Given the description of an element on the screen output the (x, y) to click on. 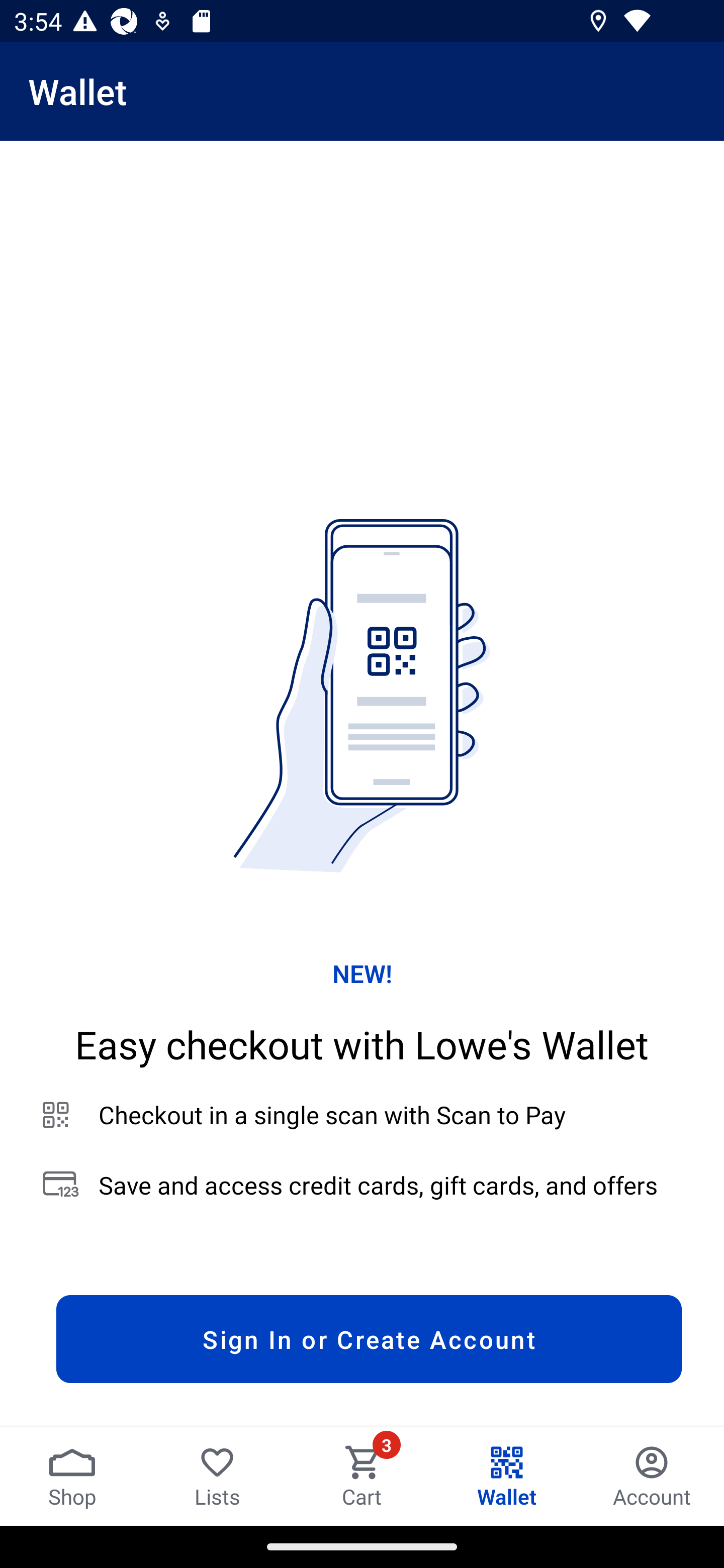
Sign In or Create Account (369, 1338)
Shop (72, 1475)
Lists (216, 1475)
Cart Cart 3 (361, 1475)
Account (651, 1475)
